Given the description of an element on the screen output the (x, y) to click on. 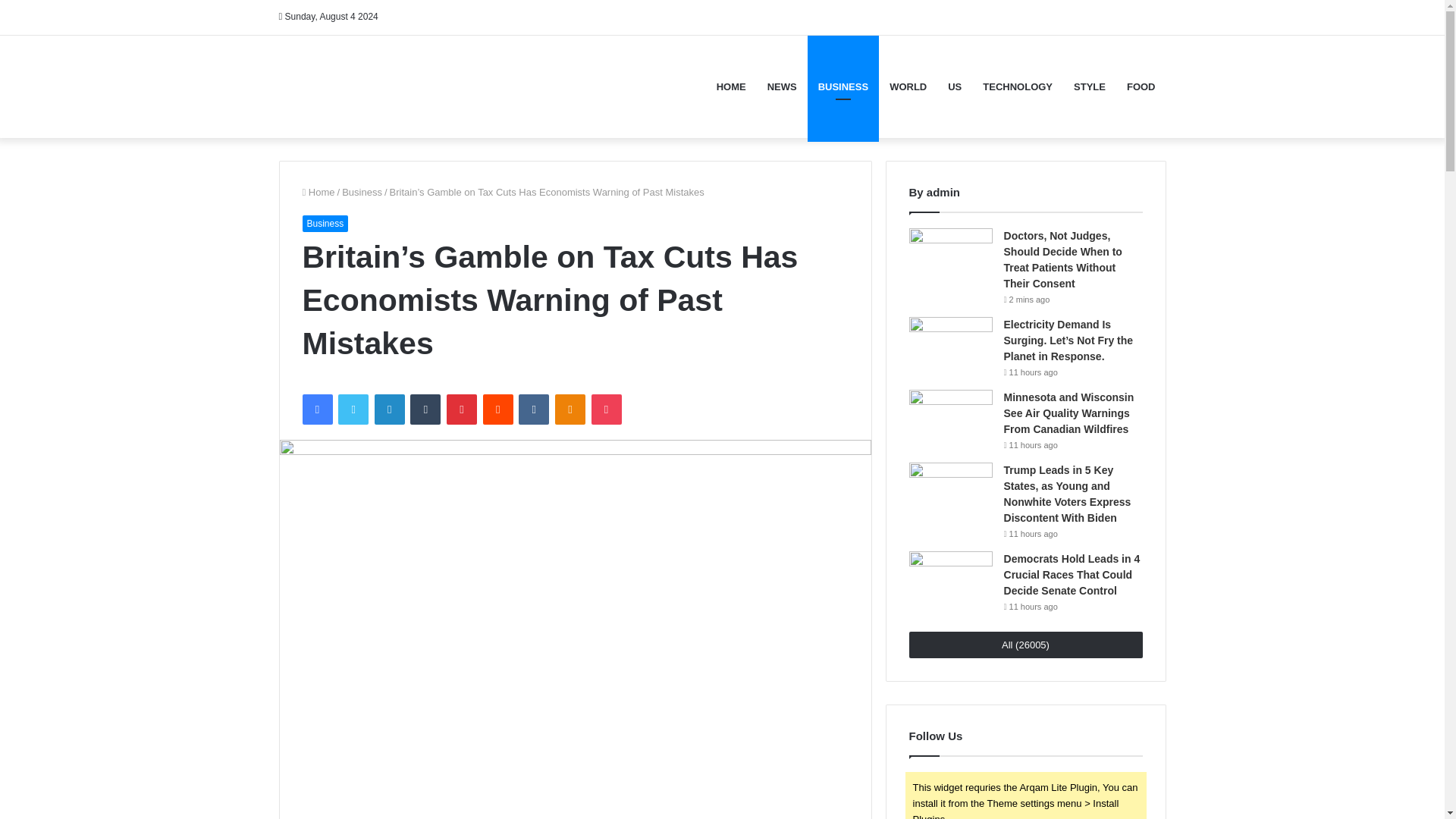
Pinterest (461, 409)
LinkedIn (389, 409)
Tumblr (425, 409)
Pocket (606, 409)
Pinterest (461, 409)
LinkedIn (389, 409)
VKontakte (533, 409)
Facebook (316, 409)
TECHNOLOGY (1017, 86)
VKontakte (533, 409)
